Given the description of an element on the screen output the (x, y) to click on. 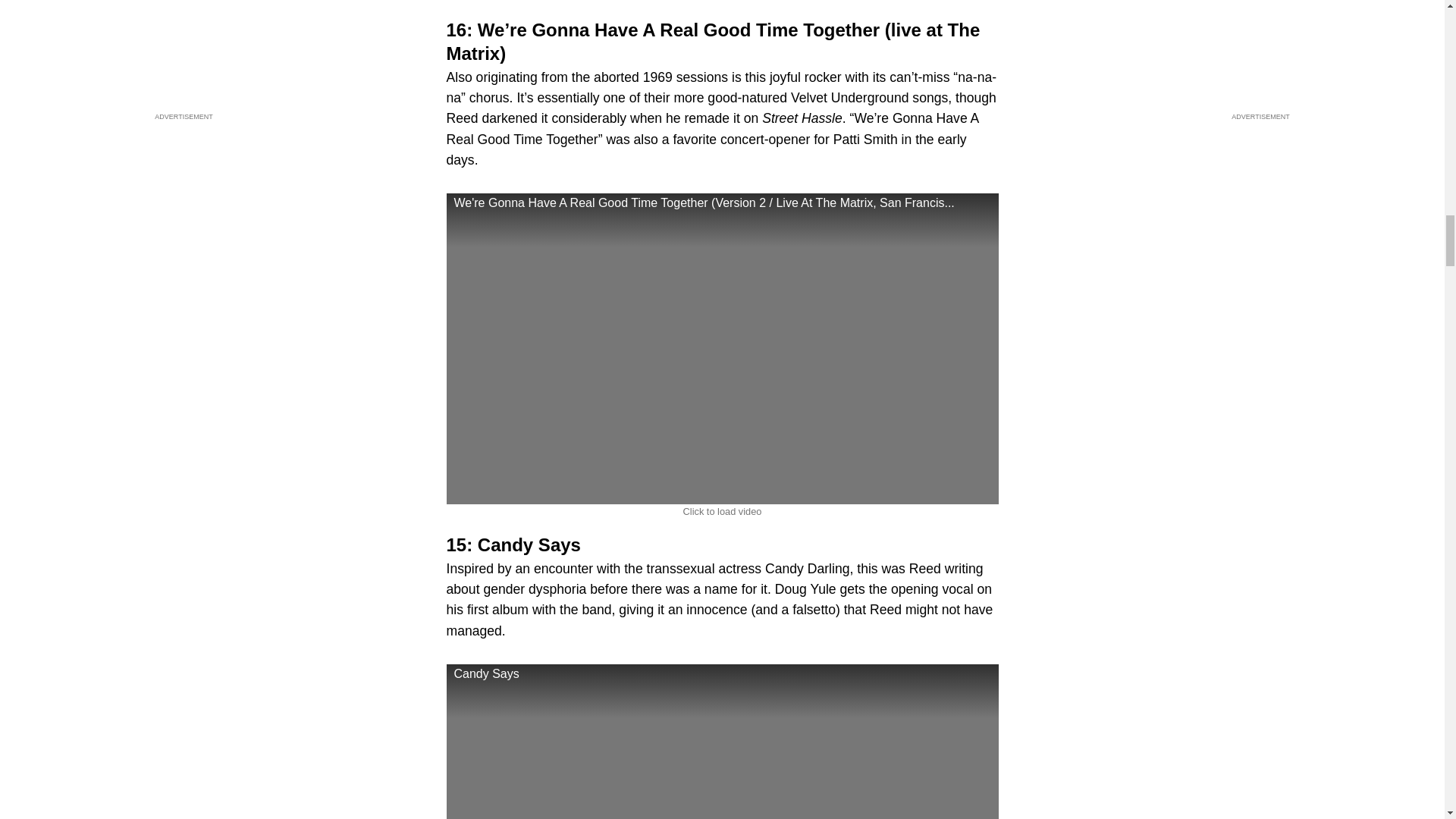
Candy Says (721, 741)
